Given the description of an element on the screen output the (x, y) to click on. 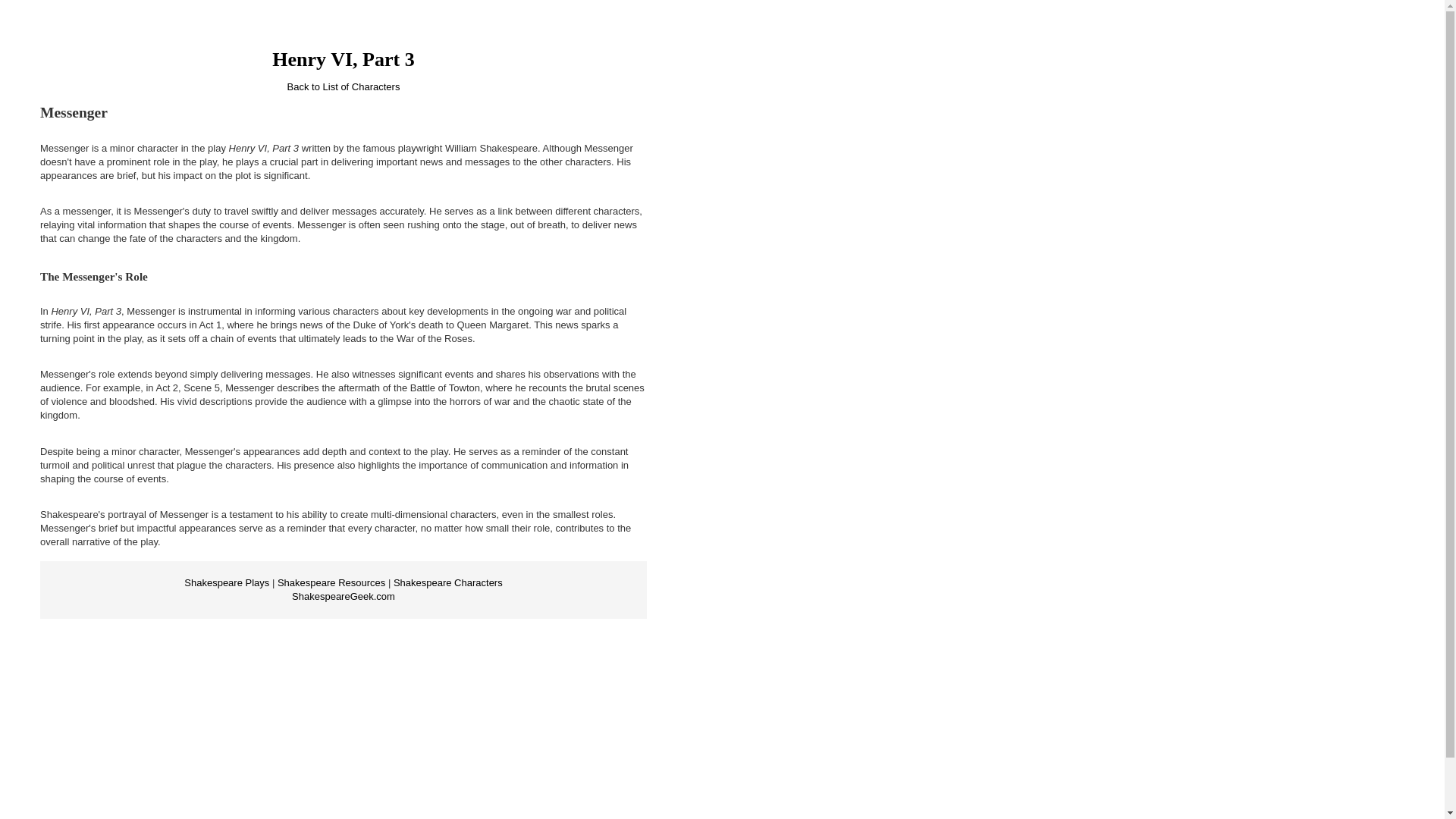
Back to List of Characters (343, 86)
Shakespeare Plays (226, 582)
Shakespeare Resources (331, 582)
ShakespeareGeek.com (343, 595)
Shakespeare Characters (447, 582)
Henry VI, Part 3 (342, 59)
